Given the description of an element on the screen output the (x, y) to click on. 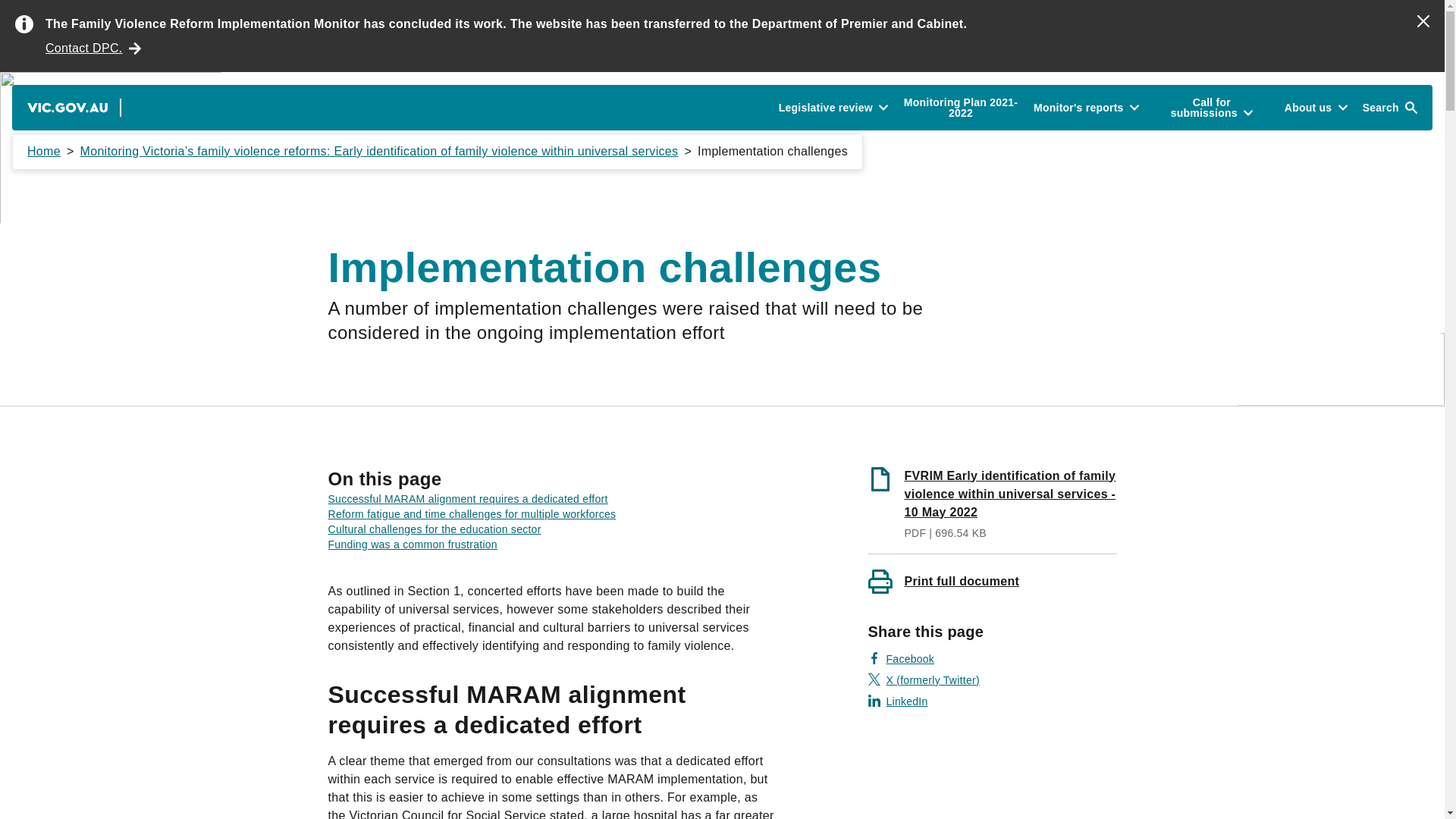
Successful MARAM alignment requires a dedicated effort (467, 499)
Facebook (900, 657)
Print full document (991, 580)
Contact DPC. (93, 48)
LinkedIn (897, 700)
Cultural challenges for the education sector (433, 529)
Home (44, 151)
Funding was a common frustration (411, 544)
Monitoring Plan 2021-2022 (960, 107)
Reform fatigue and time challenges for multiple workforces (471, 513)
